Given the description of an element on the screen output the (x, y) to click on. 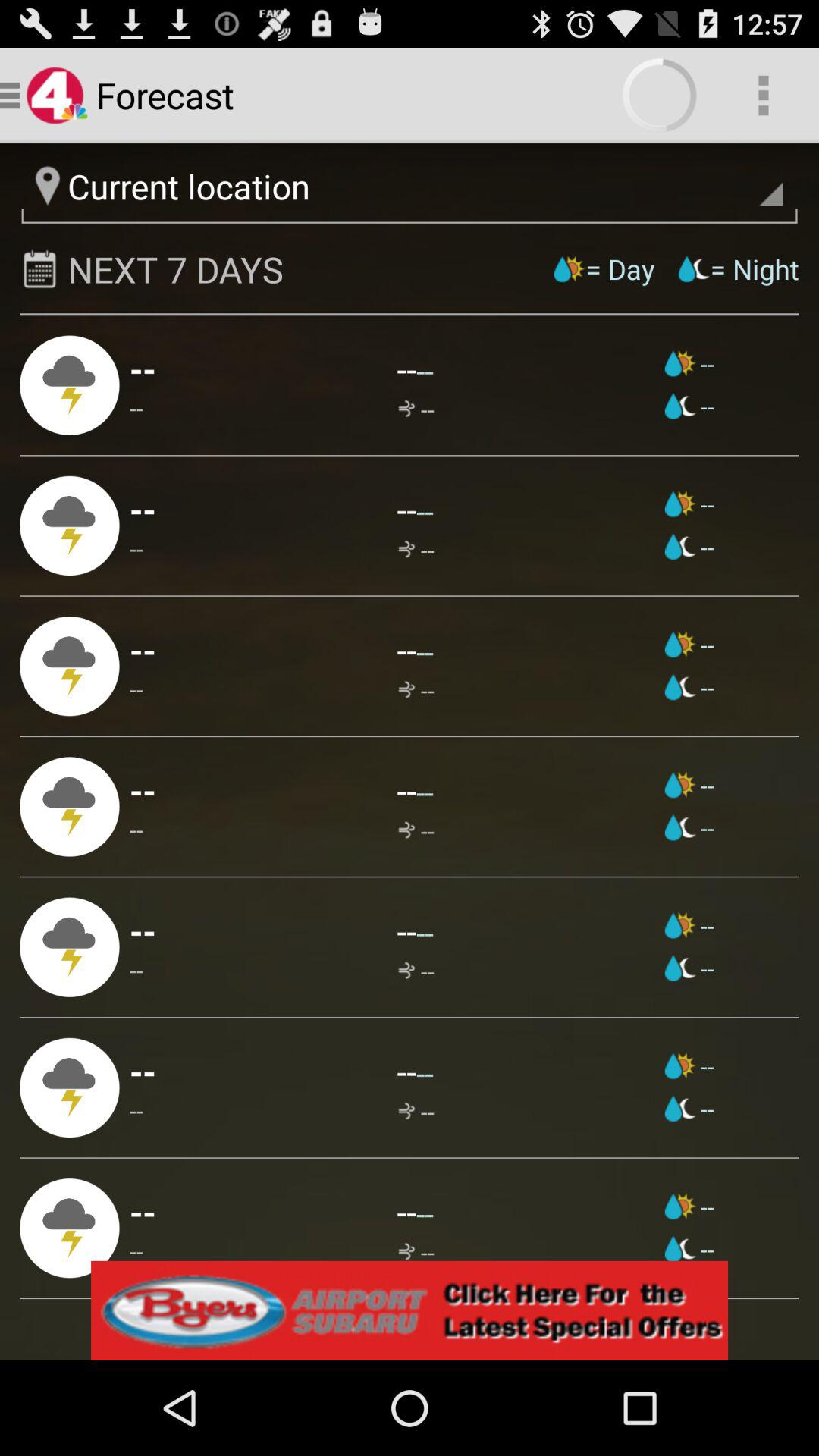
select item to the right of -- icon (415, 409)
